Given the description of an element on the screen output the (x, y) to click on. 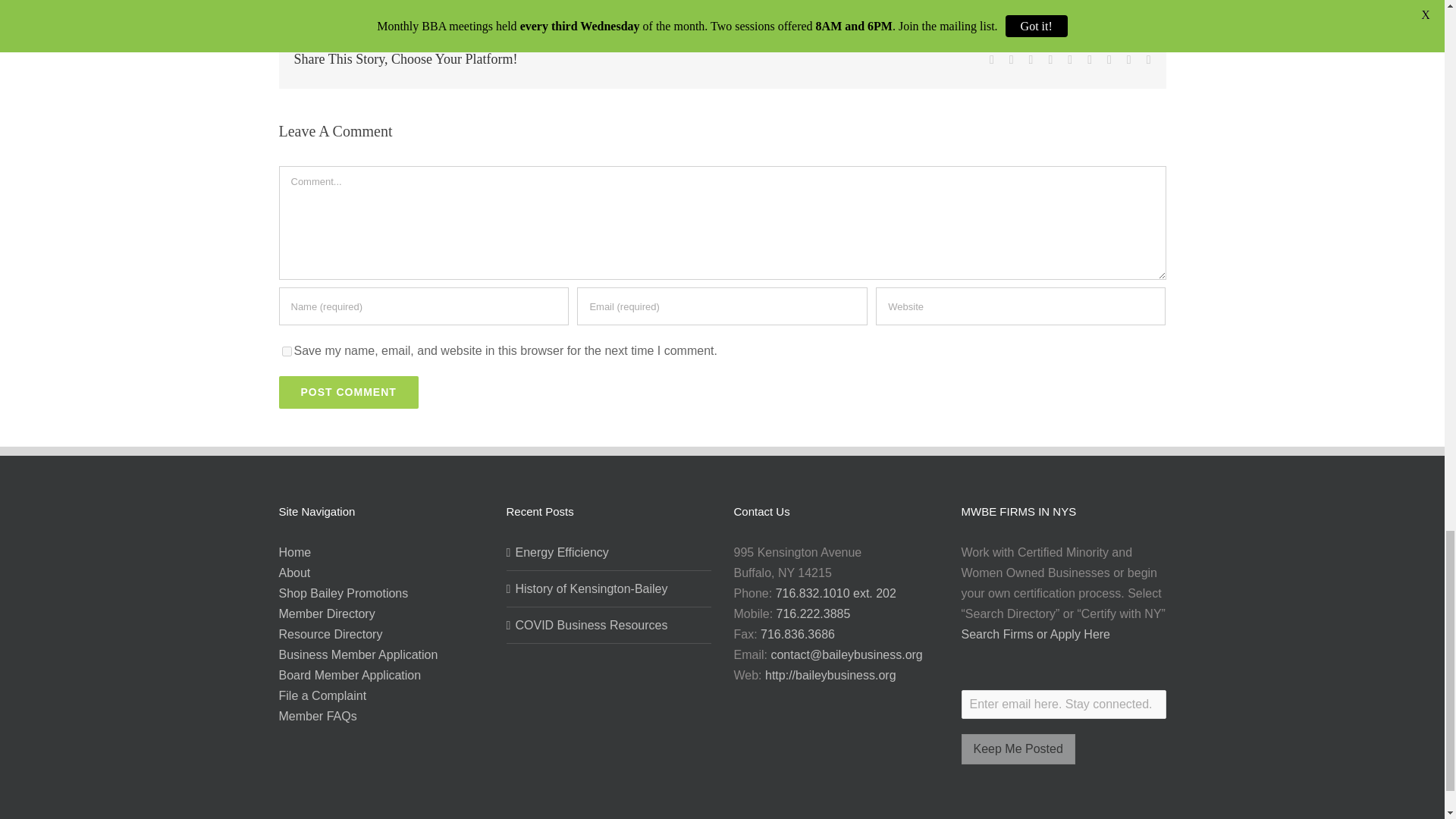
Post Comment (349, 391)
yes (287, 351)
